Given the description of an element on the screen output the (x, y) to click on. 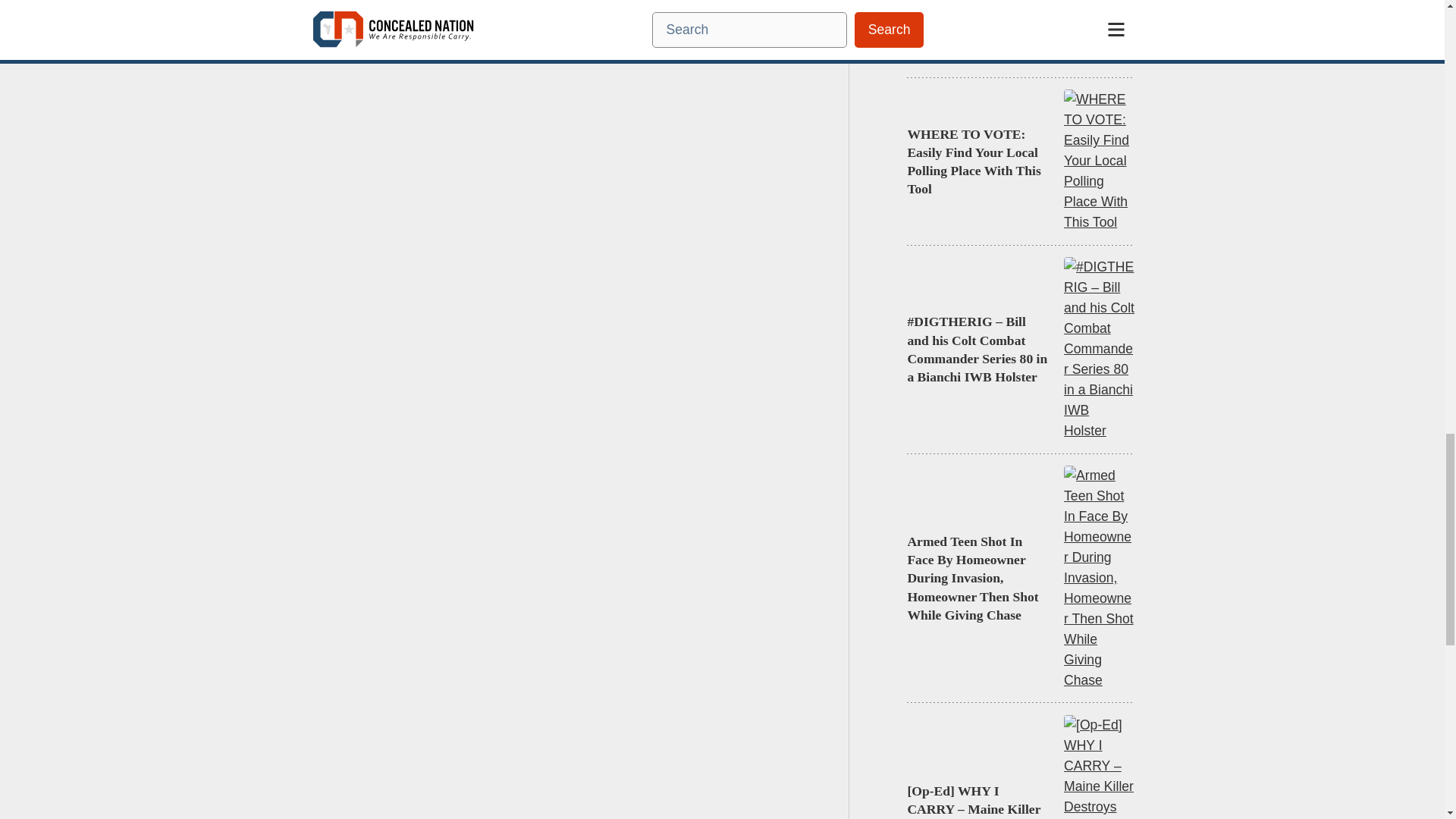
0 (346, 46)
